Given the description of an element on the screen output the (x, y) to click on. 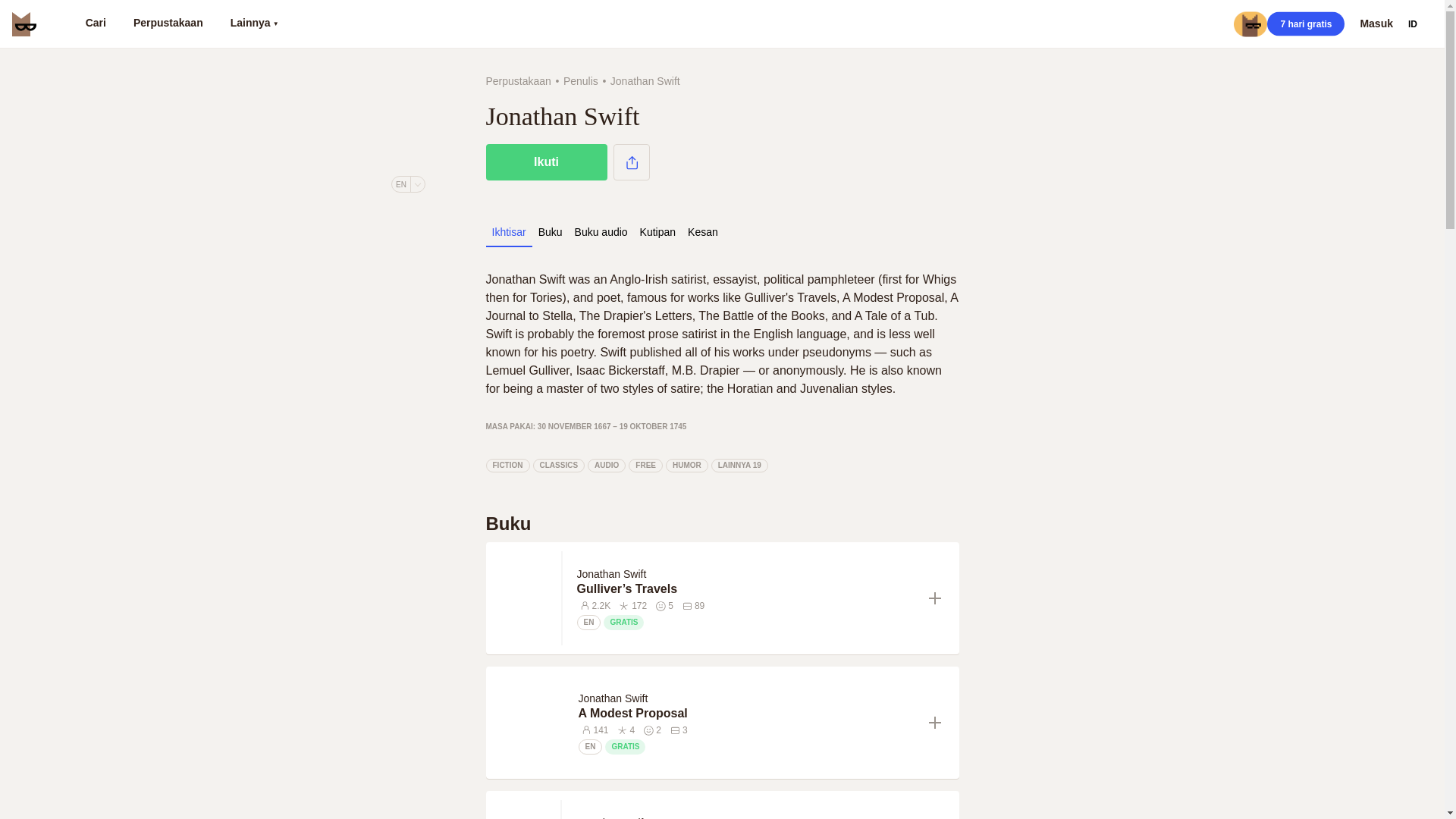
AUDIO (607, 465)
IkhtisarBukuBuku audioKutipanKesan (603, 232)
Jonathan Swift (611, 817)
CLASSICS (558, 465)
A Modest Proposal (746, 713)
Ikuti (545, 162)
Perpustakaan (517, 80)
Jonathan Swift (611, 573)
Ikhtisar (507, 232)
Perpustakaan (168, 24)
7 hari gratis (1304, 23)
IkhtisarBukuBuku audioKutipanKesan (721, 236)
Kesan (702, 232)
Buku audio (601, 232)
FICTION (506, 465)
